Given the description of an element on the screen output the (x, y) to click on. 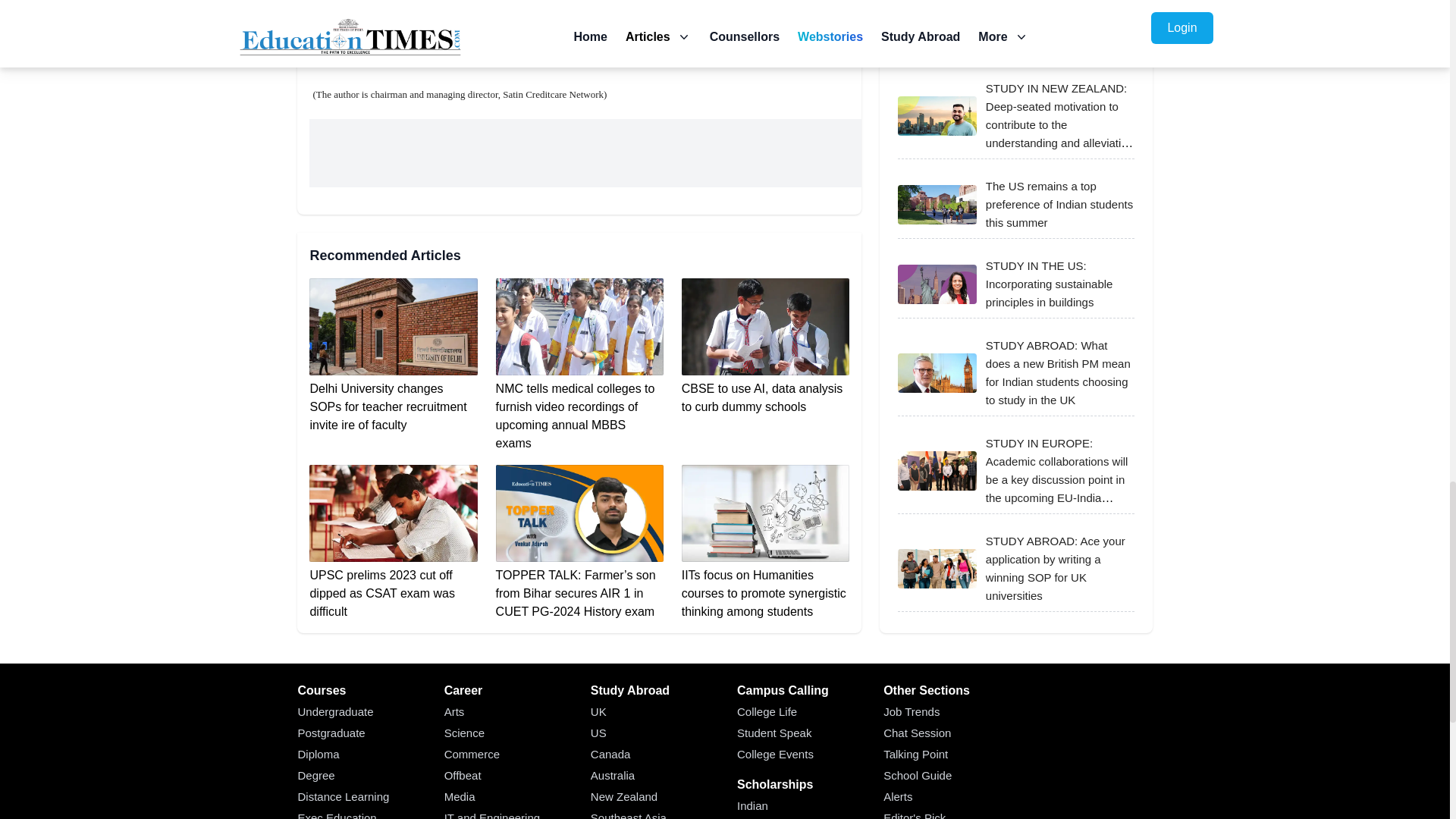
CBSE to use AI, data analysis to curb dummy schools (764, 347)
3rd party ad content (584, 152)
UPSC prelims 2023 cut off dipped as CSAT exam was difficult (392, 542)
